Given the description of an element on the screen output the (x, y) to click on. 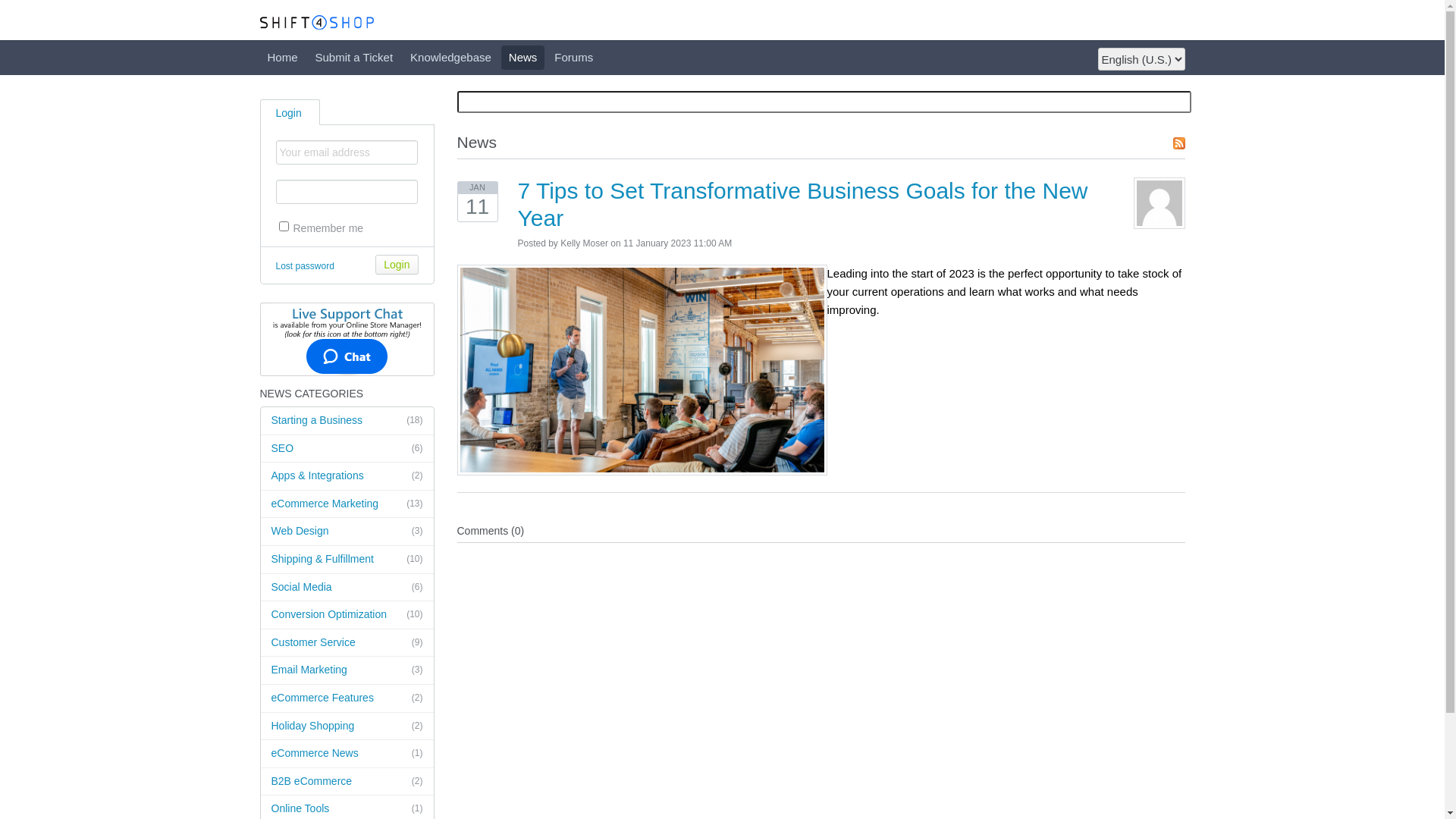
RSS Feed Element type: hover (1178, 141)
(6)
SEO Element type: text (346, 449)
Submit a Ticket Element type: text (354, 57)
(2)
Holiday Shopping Element type: text (346, 726)
(2)
eCommerce Features Element type: text (346, 698)
(18)
Starting a Business Element type: text (346, 421)
Login Element type: text (396, 264)
Knowledgebase Element type: text (450, 57)
Lost password Element type: text (305, 265)
Forums Element type: text (573, 57)
(10)
Conversion Optimization Element type: text (346, 615)
(6)
Social Media Element type: text (346, 588)
7 Tips to Set Transformative Business Goals for the New Year Element type: text (802, 204)
Login Element type: text (290, 111)
News Element type: text (523, 57)
(13)
eCommerce Marketing Element type: text (346, 504)
(9)
Customer Service Element type: text (346, 643)
(10)
Shipping & Fulfillment Element type: text (346, 560)
(1)
eCommerce News Element type: text (346, 754)
(3)
Web Design Element type: text (346, 531)
(2)
B2B eCommerce Element type: text (346, 782)
(2)
Apps & Integrations Element type: text (346, 476)
Home Element type: text (281, 57)
(3)
Email Marketing Element type: text (346, 670)
